Given the description of an element on the screen output the (x, y) to click on. 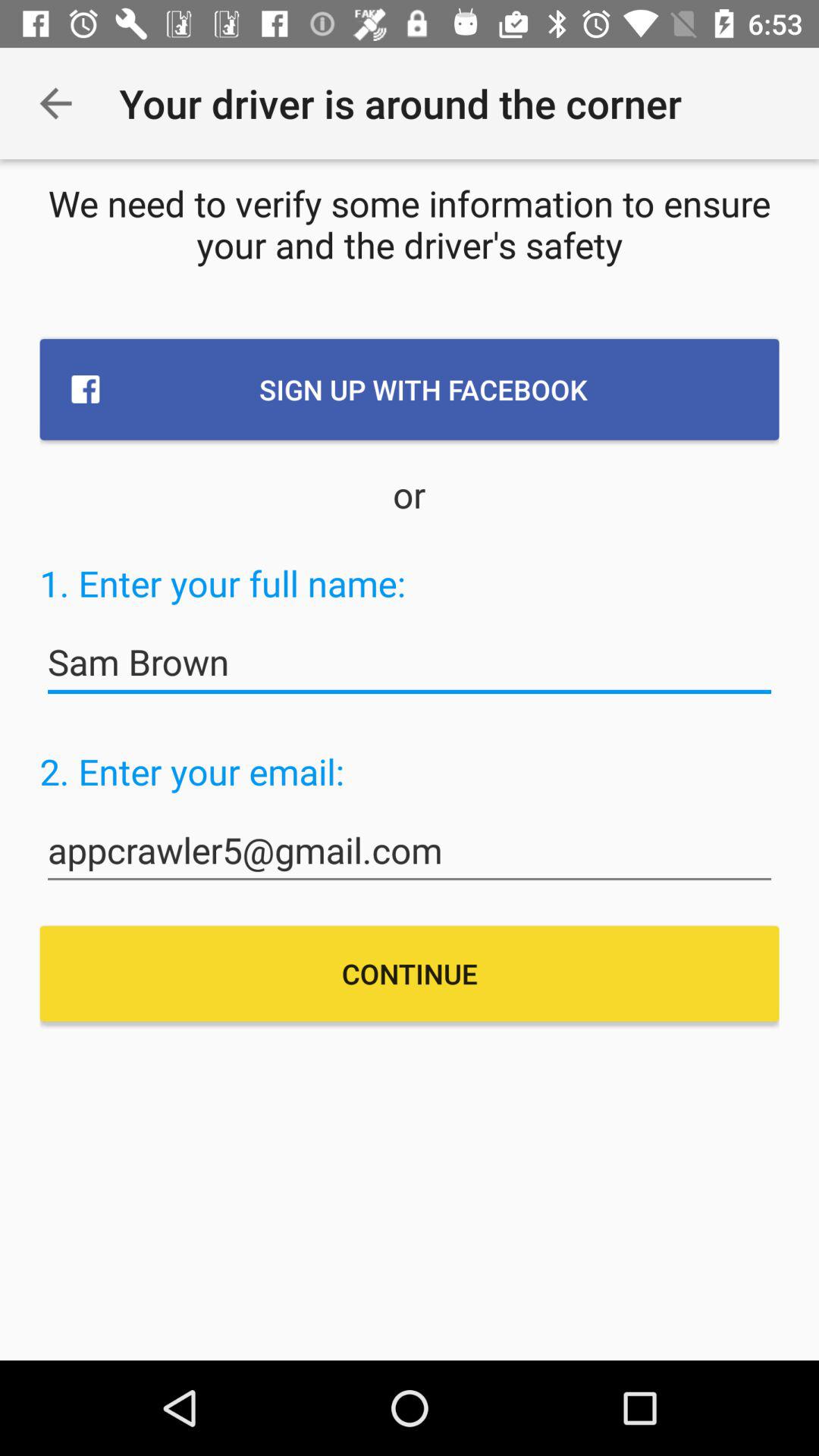
turn off the icon above the 2 enter your item (409, 662)
